Given the description of an element on the screen output the (x, y) to click on. 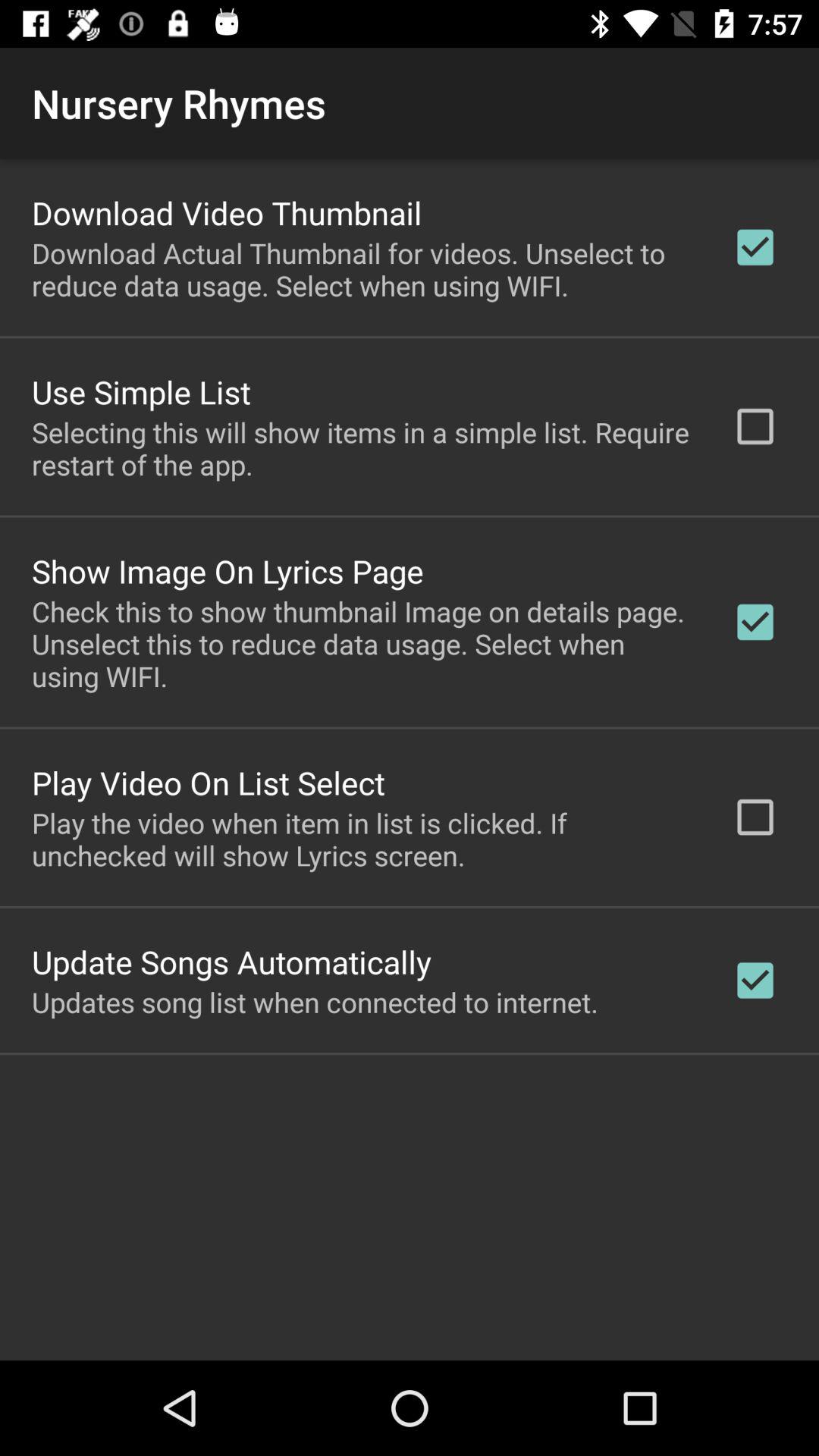
scroll to the selecting this will (361, 448)
